Given the description of an element on the screen output the (x, y) to click on. 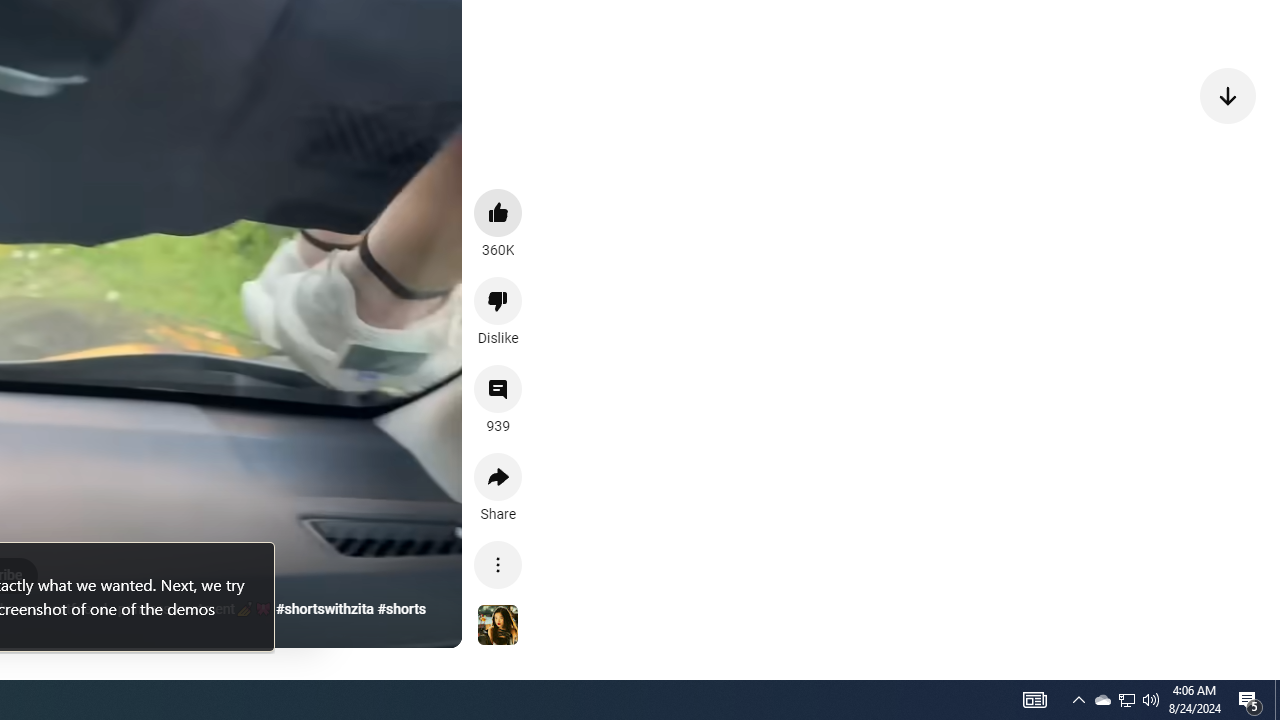
Next video (1227, 94)
Share (498, 476)
#shortswithzita (324, 609)
#shorts (402, 609)
like this video along with 360K other people (498, 212)
View 939 comments (498, 389)
More actions (498, 564)
Dislike this video (498, 300)
See more videos using this sound (497, 626)
